Given the description of an element on the screen output the (x, y) to click on. 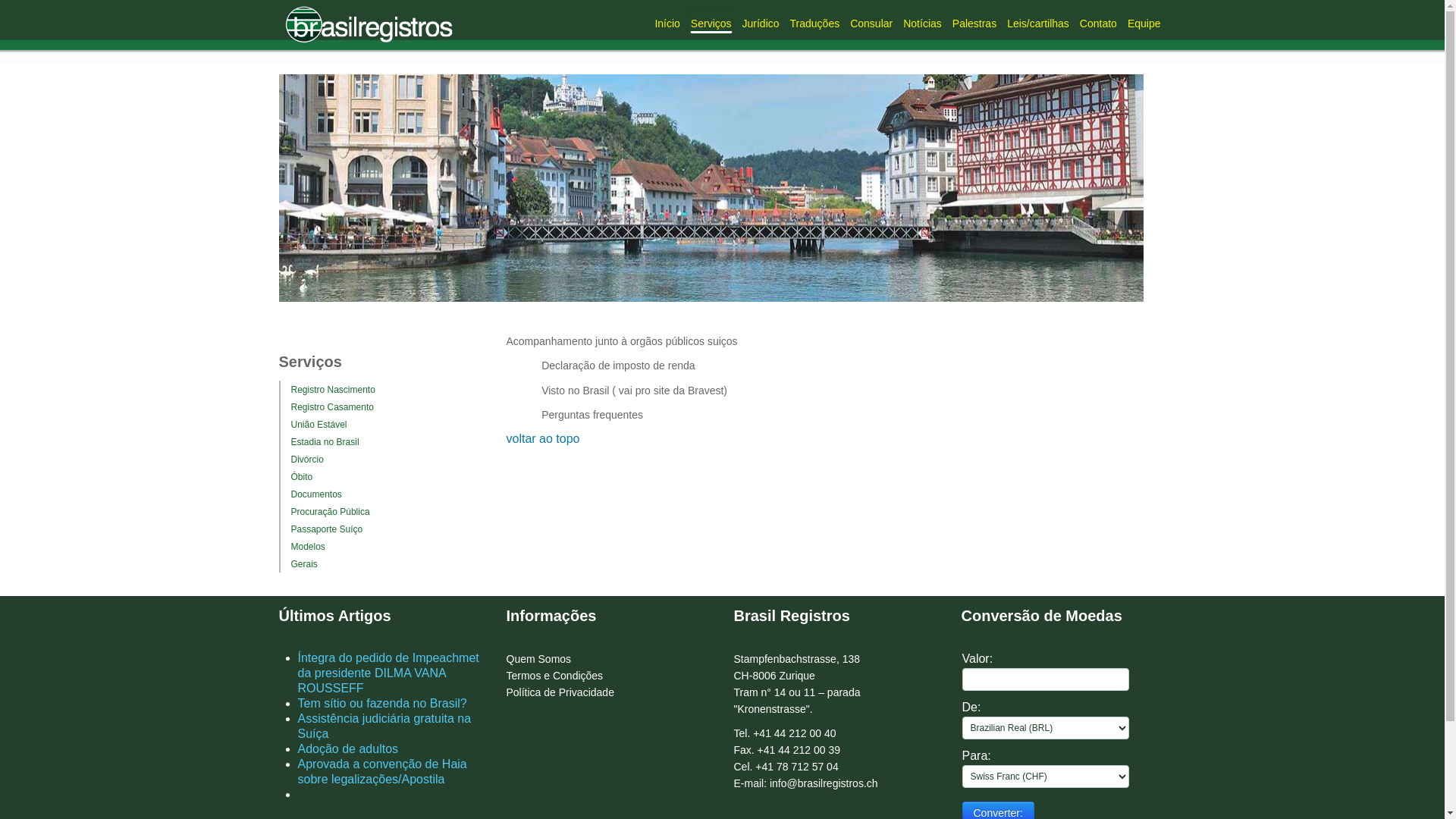
Registro Casamento Element type: text (326, 406)
Documentos Element type: text (311, 494)
voltar ao topo Element type: text (543, 438)
Palestras Element type: text (974, 19)
Equipe Element type: text (1144, 19)
Consular Element type: text (871, 19)
Contato Element type: text (1098, 19)
Gerais Element type: text (298, 563)
Modelos Element type: text (302, 546)
Leis/cartilhas Element type: text (1038, 19)
Estadia no Brasil Element type: text (319, 441)
Quem Somos Element type: text (538, 658)
Registro Nascimento Element type: text (327, 389)
info@brasilregistros.ch Element type: text (823, 783)
